Given the description of an element on the screen output the (x, y) to click on. 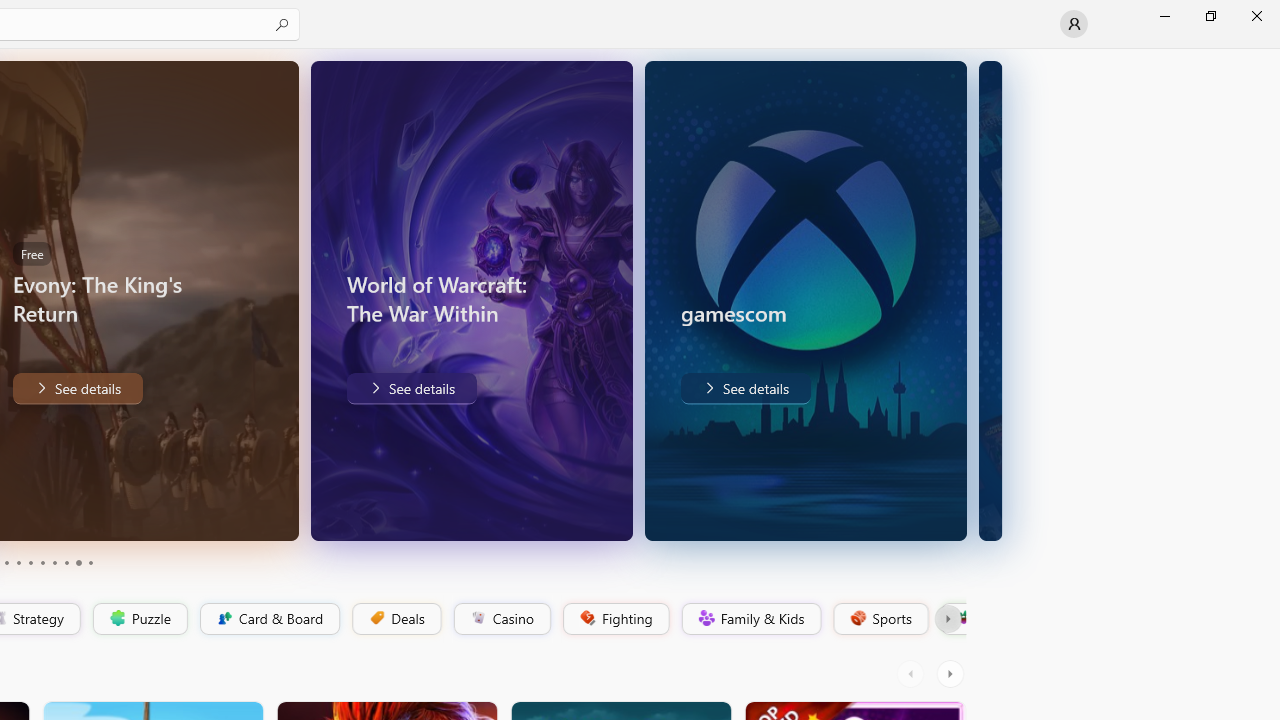
Close Microsoft Store (1256, 15)
Page 3 (5, 562)
Page 8 (65, 562)
Page 4 (17, 562)
Platformer (952, 619)
Play Trailer (229, 512)
User profile (1073, 24)
Sports (879, 619)
Minimize Microsoft Store (1164, 15)
Page 9 (77, 562)
Casino (501, 619)
AutomationID: LeftScrollButton (913, 673)
Deals (395, 619)
Page 5 (29, 562)
Puzzle (139, 619)
